Given the description of an element on the screen output the (x, y) to click on. 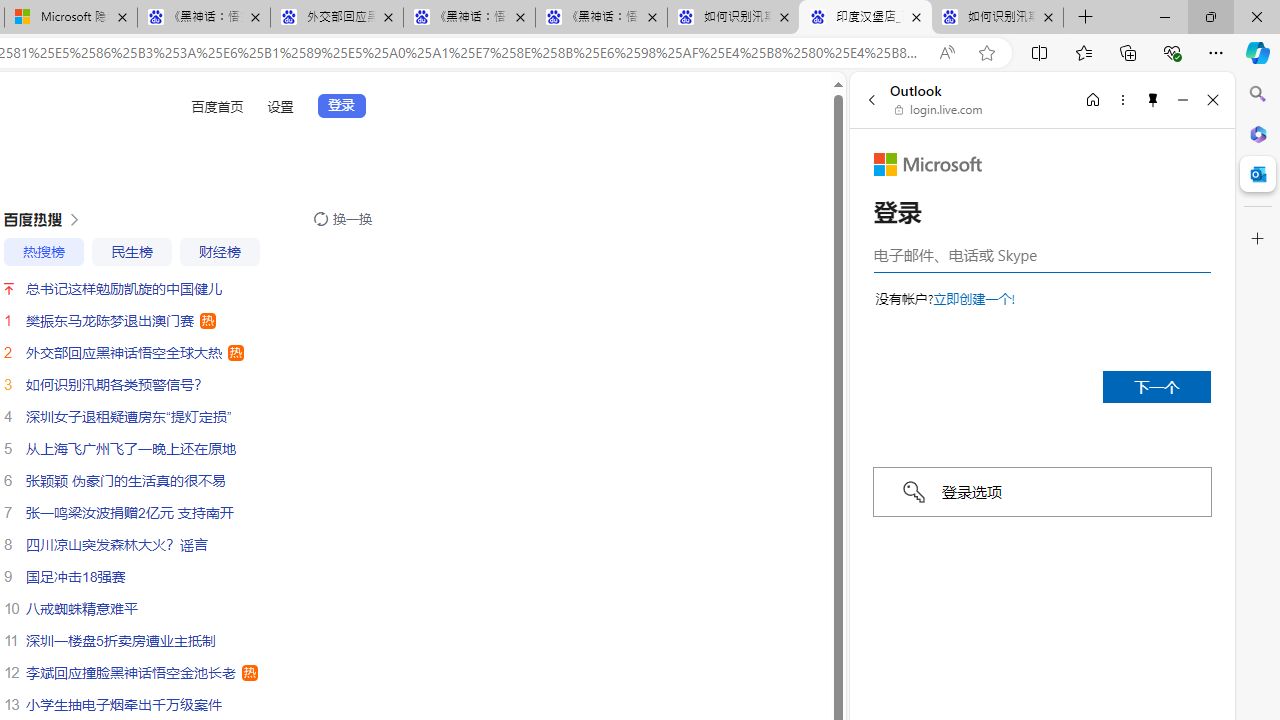
login.live.com (939, 110)
More options (1122, 99)
Customize (1258, 239)
